Given the description of an element on the screen output the (x, y) to click on. 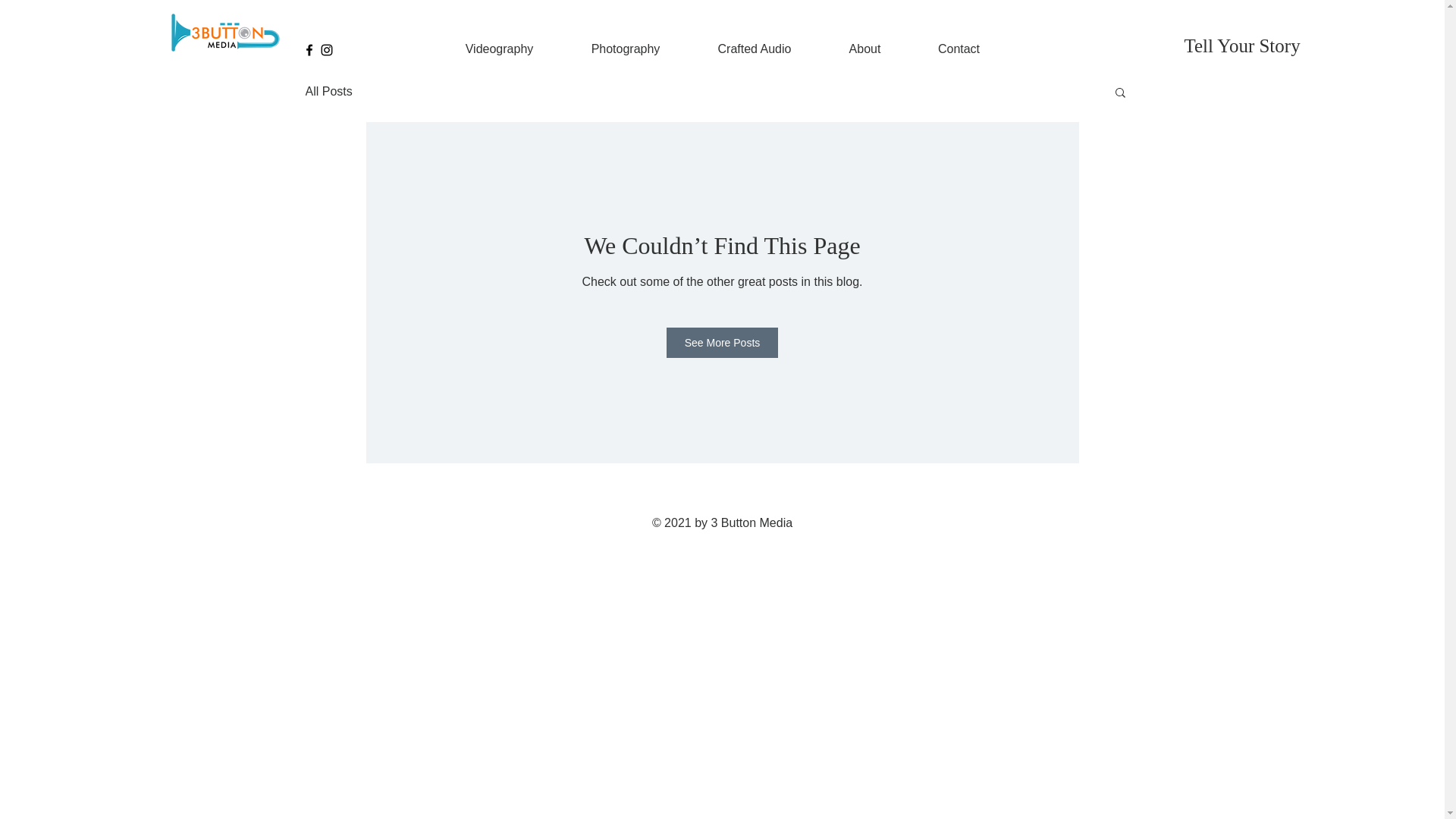
Photography Element type: text (625, 49)
Contact Element type: text (959, 49)
All Posts Element type: text (327, 91)
Crafted Audio Element type: text (753, 49)
See More Posts Element type: text (722, 342)
Videography Element type: text (499, 49)
About Element type: text (865, 49)
